Given the description of an element on the screen output the (x, y) to click on. 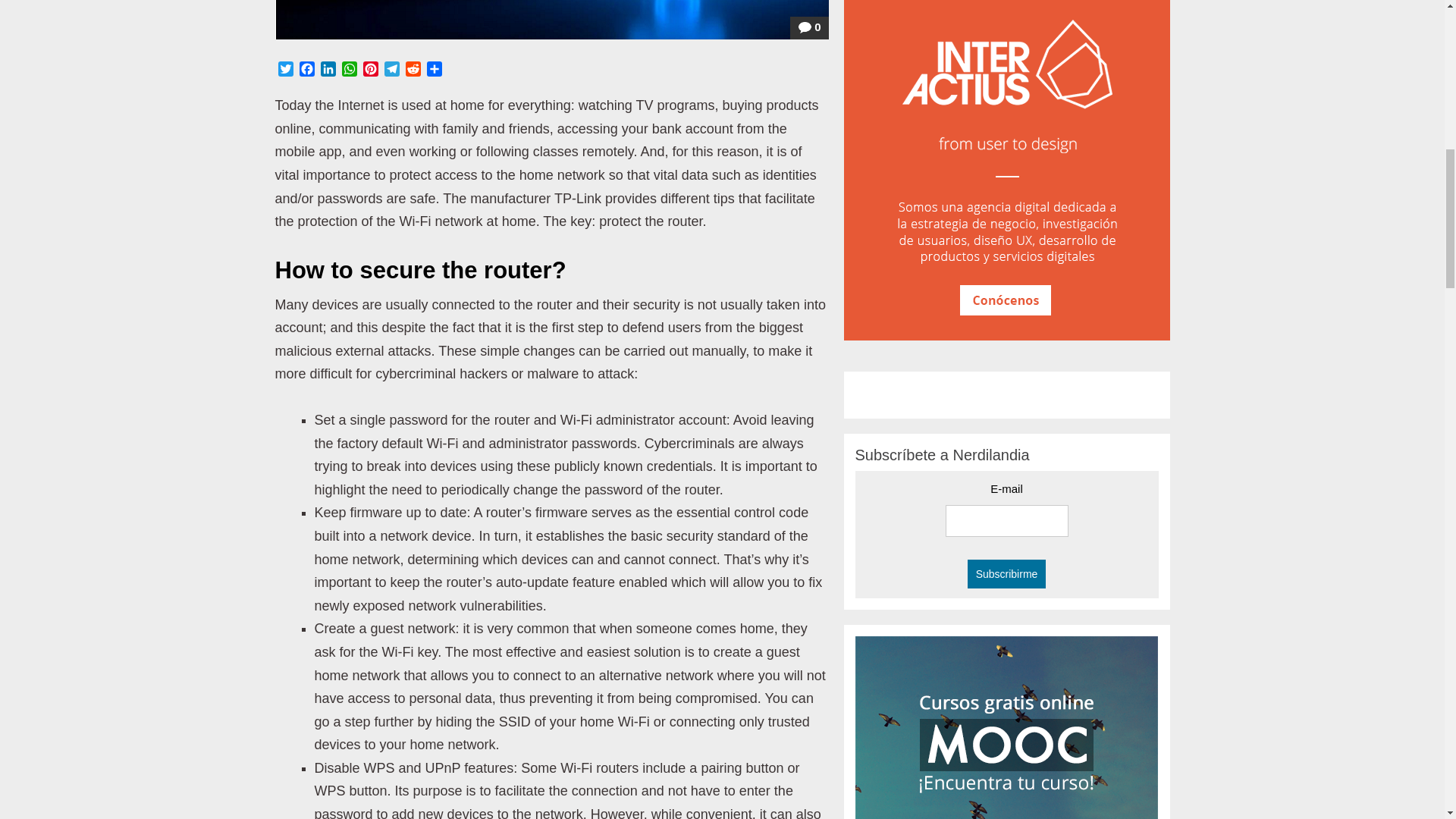
0 (809, 27)
Twitter (285, 70)
WhatsApp (348, 70)
Facebook (306, 70)
Facebook (306, 70)
LinkedIn (327, 70)
WhatsApp (348, 70)
Telegram (390, 70)
Twitter (285, 70)
Subscribirme (1007, 573)
